Given the description of an element on the screen output the (x, y) to click on. 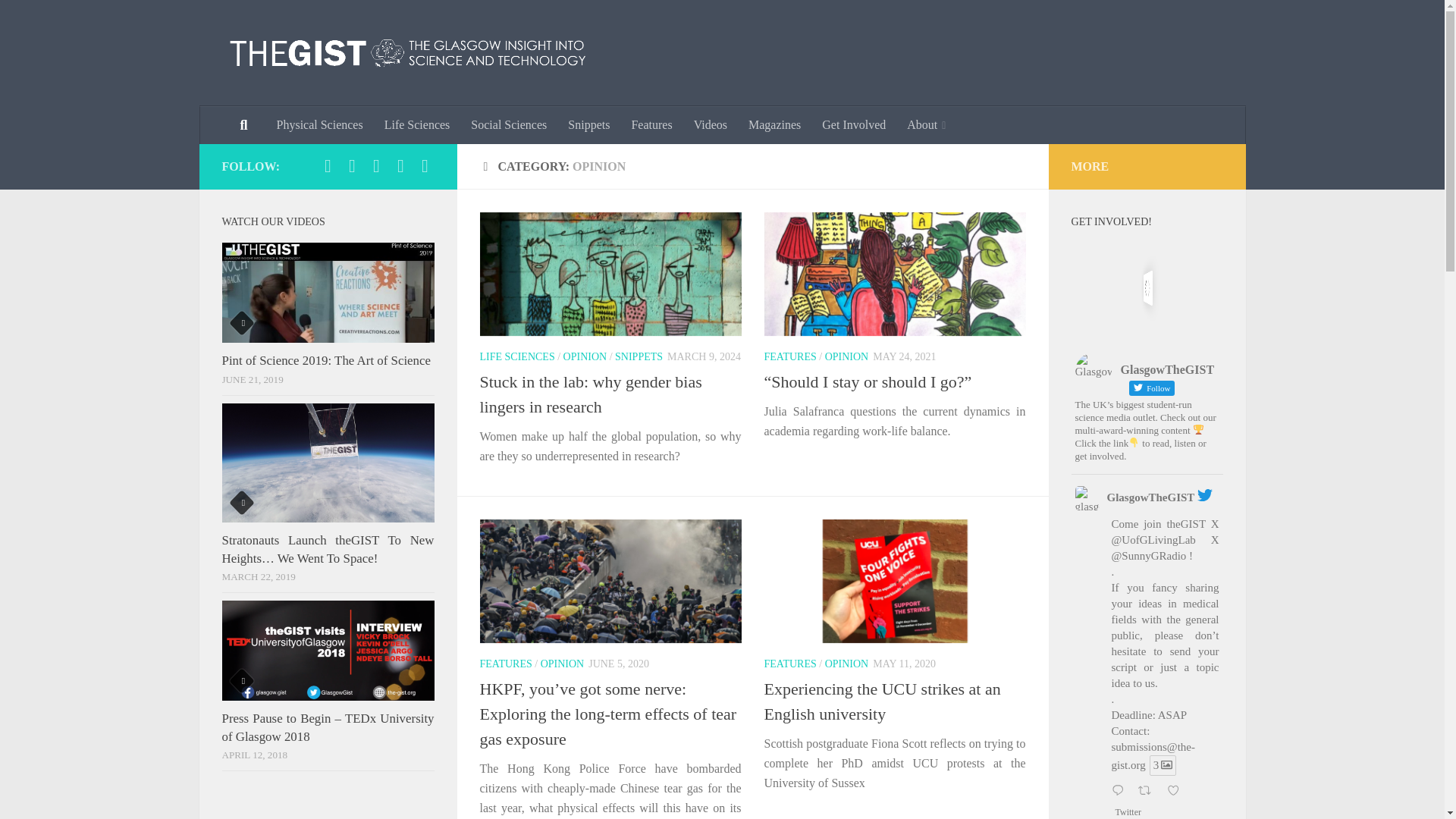
Social Sciences (508, 125)
Physical Sciences (318, 125)
Stuck in the lab: why gender bias lingers in research (590, 394)
Life Sciences (417, 125)
Follow us on Facebook (327, 166)
OPINION (562, 663)
Videos (710, 125)
FEATURES (790, 356)
Email us (423, 166)
OPINION (847, 356)
Follow us on Twitter (351, 166)
Add us on Snapchat (400, 166)
About (926, 125)
Snippets (588, 125)
OPINION (585, 356)
